Given the description of an element on the screen output the (x, y) to click on. 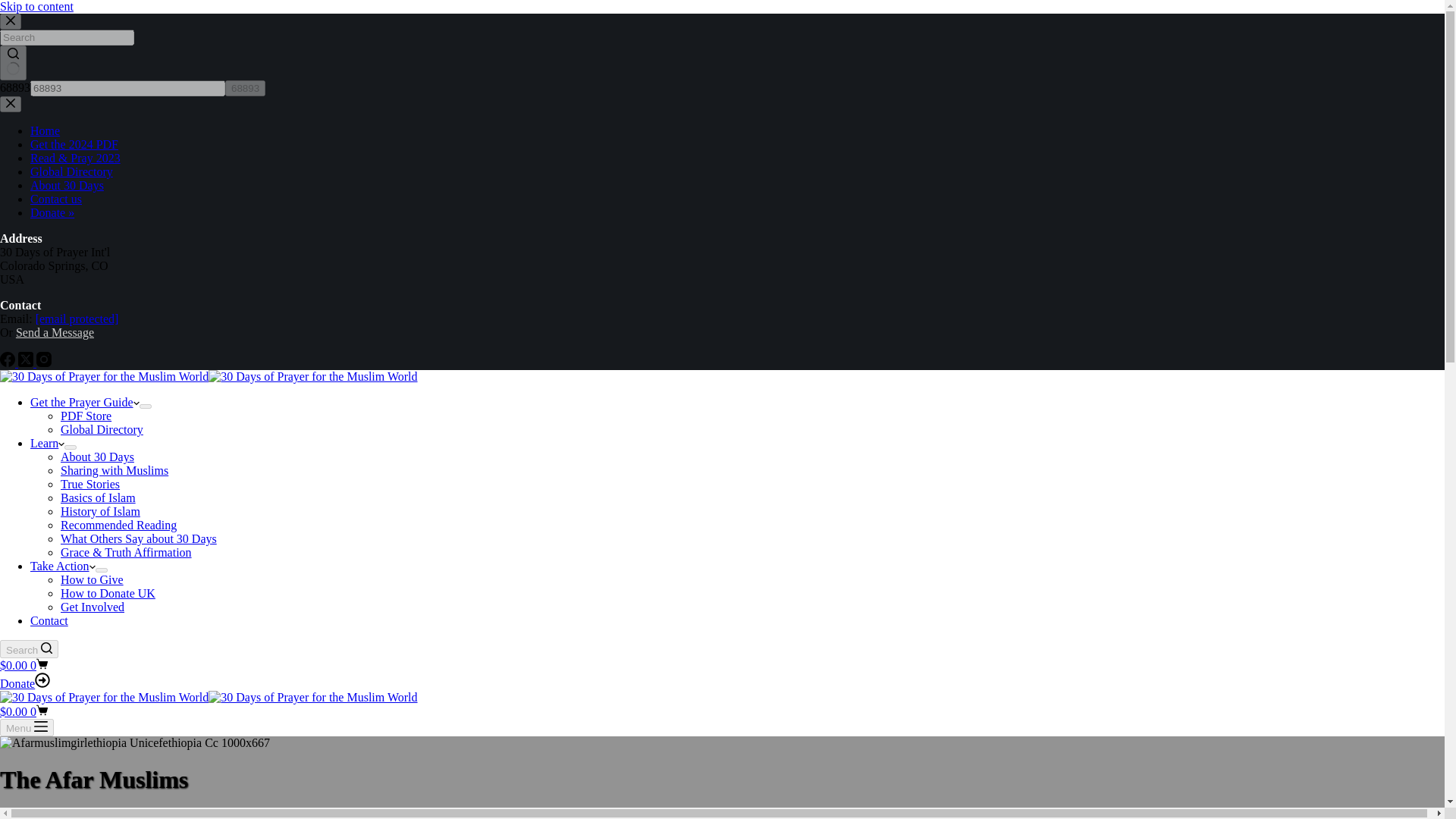
Contact (49, 620)
What Others Say about 30 Days (138, 538)
How to Donate UK (108, 593)
Sharing with Muslims (114, 470)
Home (44, 130)
The Afar Muslims (722, 779)
Basics of Islam (98, 497)
Recommended Reading (118, 524)
About 30 Days (97, 456)
True Stories (90, 483)
